Given the description of an element on the screen output the (x, y) to click on. 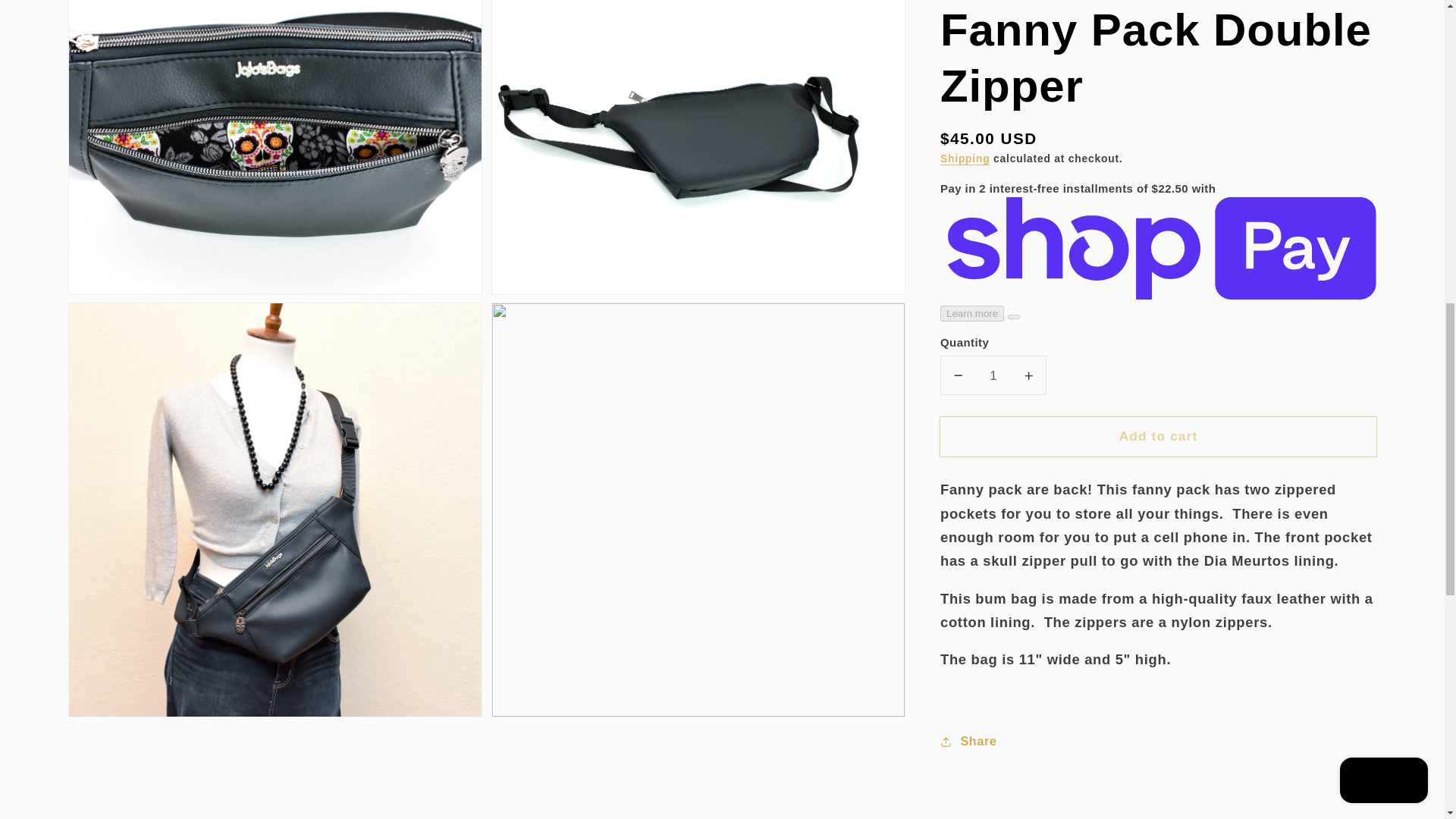
Open media 2 in gallery view (274, 146)
Open media 3 in gallery view (698, 146)
